Given the description of an element on the screen output the (x, y) to click on. 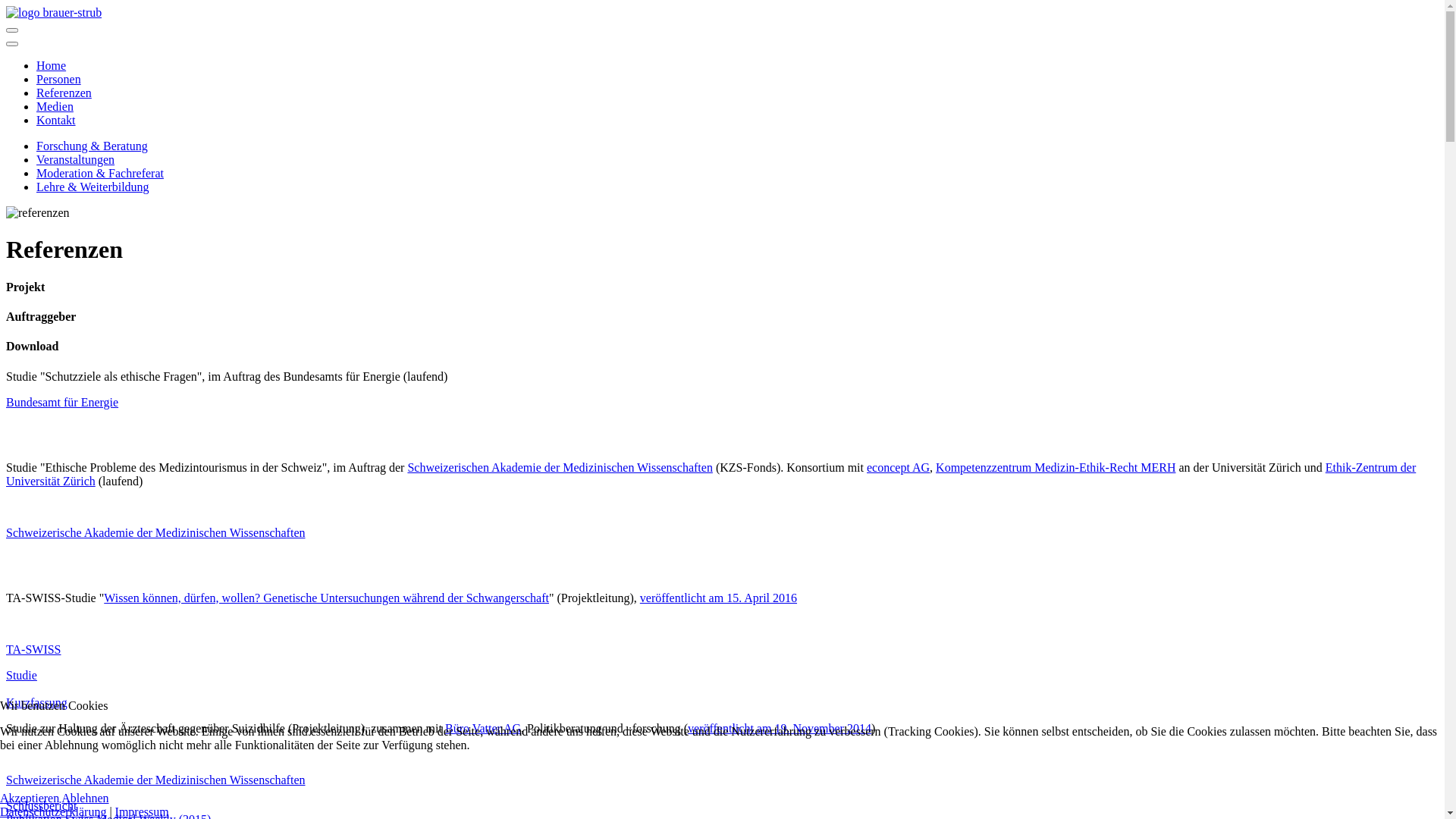
Akzeptieren Element type: text (29, 797)
Lehre & Weiterbildung Element type: text (92, 186)
Medien Element type: text (54, 106)
Impressum Element type: text (142, 811)
Schweizerische Akademie der Medizinischen Wissenschaften Element type: text (155, 779)
Schweizerischen Akademie der Medizinischen Wissenschaften Element type: text (559, 467)
Forschung & Beratung Element type: text (91, 145)
Home Element type: text (50, 65)
Studie Element type: text (21, 681)
Schlussbericht Element type: text (41, 805)
Personen Element type: text (58, 78)
Moderation & Fachreferat Element type: text (99, 172)
Kontakt Element type: text (55, 119)
Schweizerische Akademie der Medizinischen Wissenschaften Element type: text (155, 532)
Kompetenzzentrum Medizin-Ethik-Recht MERH Element type: text (1055, 467)
TA-SWISS Element type: text (33, 649)
Kurzfassung Element type: text (36, 702)
Referenzen Element type: text (63, 92)
Veranstaltungen Element type: text (75, 159)
econcept AG Element type: text (897, 467)
Ablehnen Element type: text (84, 797)
